Given the description of an element on the screen output the (x, y) to click on. 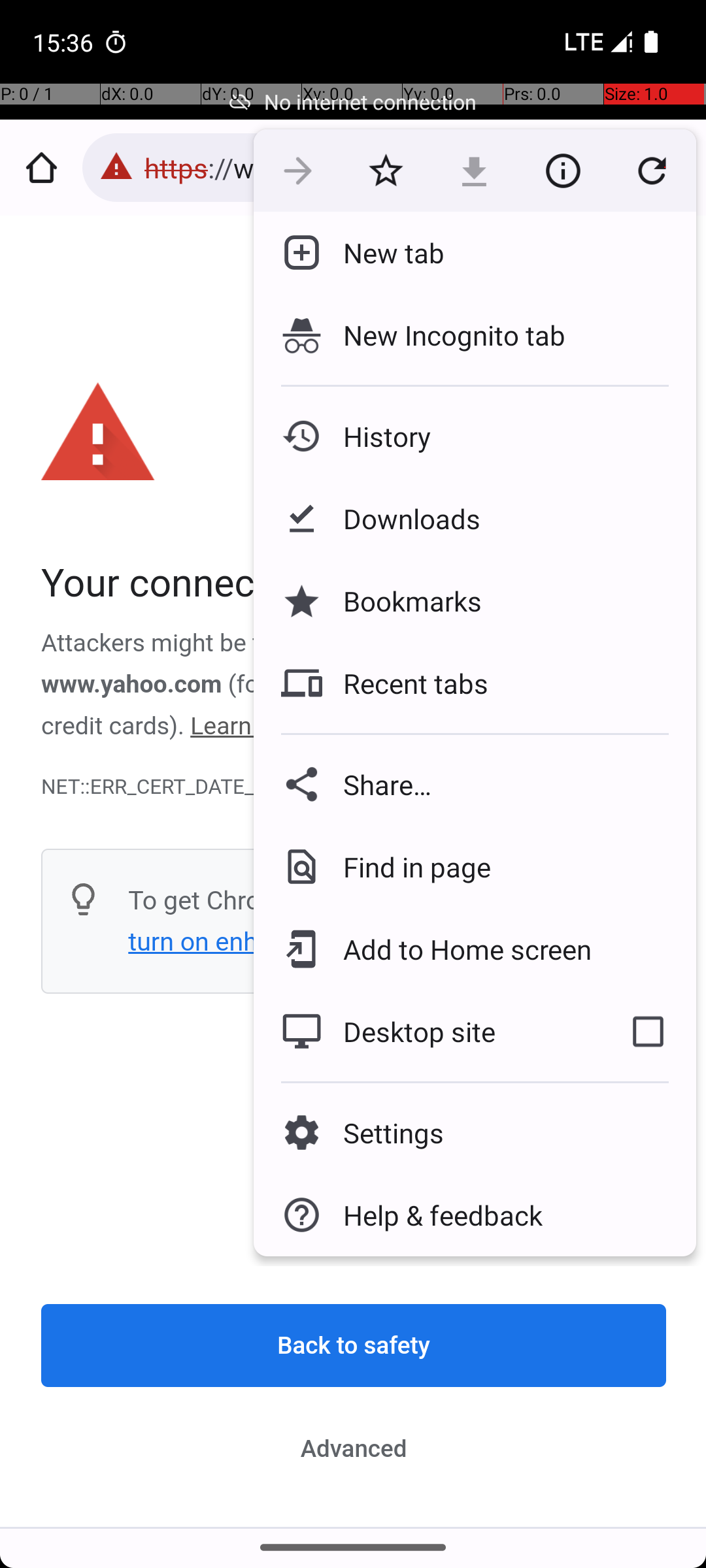
Forward Element type: android.widget.ImageButton (297, 170)
Bookmark Element type: android.widget.ImageButton (385, 170)
Page info Element type: android.widget.ImageButton (562, 170)
Refresh Element type: android.widget.ImageButton (651, 170)
New tab Element type: android.widget.TextView (383, 252)
New Incognito tab Element type: android.widget.TextView (474, 335)
Bookmarks Element type: android.widget.TextView (401, 600)
Recent tabs Element type: android.widget.TextView (405, 683)
Share… Element type: android.widget.TextView (474, 784)
Find in page Element type: android.widget.TextView (406, 866)
Add to Home screen Element type: android.widget.TextView (457, 949)
Desktop site Element type: android.widget.TextView (426, 1031)
15:36 Element type: android.widget.TextView (64, 41)
